Given the description of an element on the screen output the (x, y) to click on. 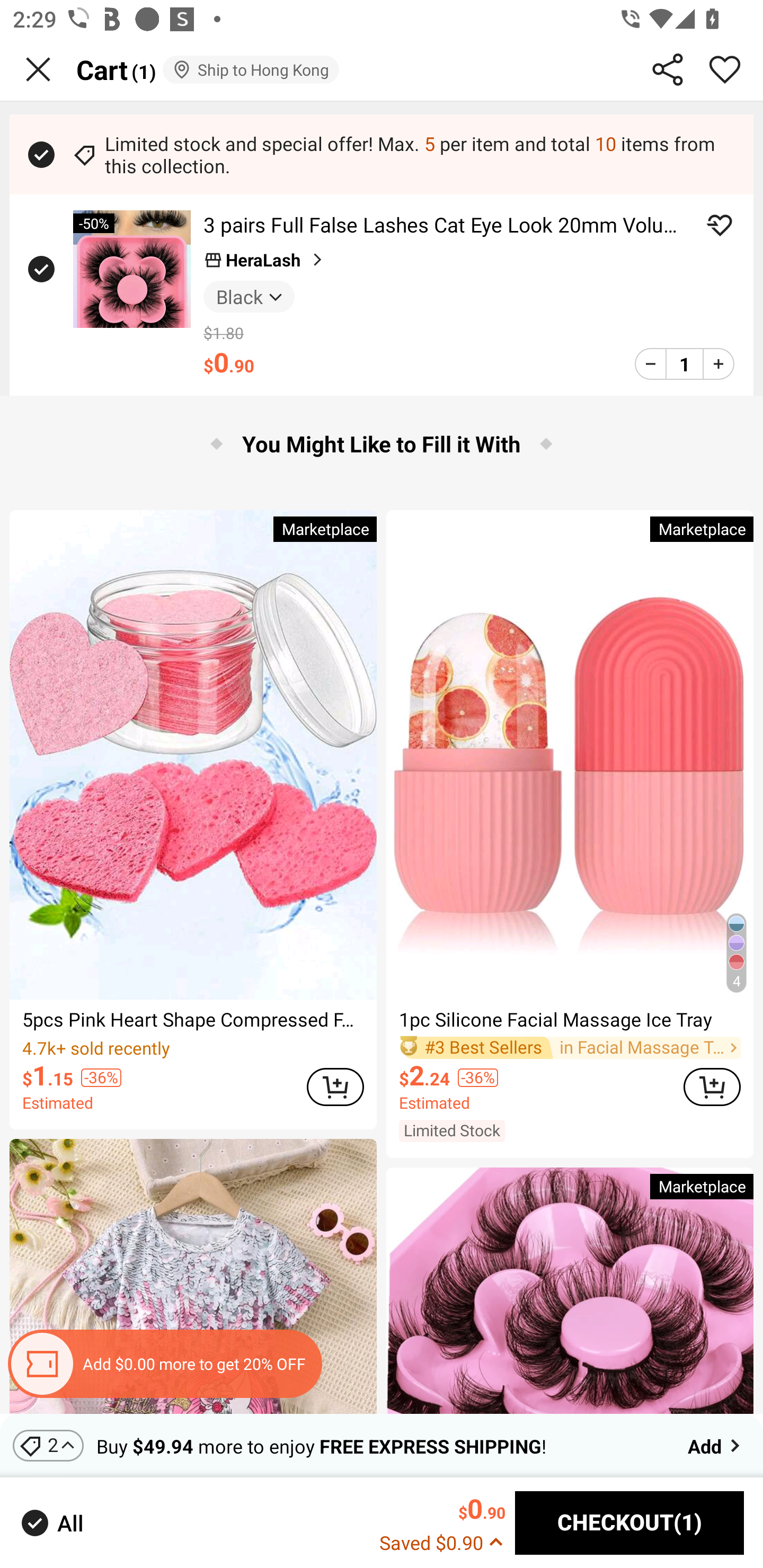
BACK Cart (1) Ship to Hong Kong Share Wishlist (381, 69)
BACK (38, 68)
Wishlist (724, 68)
Share (667, 68)
Ship to Hong Kong (250, 68)
ADD TO WISHLIST (719, 224)
HeraLash (264, 259)
Black (248, 296)
product quantity minus 1 (650, 363)
1 edit product quantity (684, 363)
product quantity add 1 (718, 363)
#3 Best Sellers in Facial Massage Tools (569, 1046)
ADD TO CART (334, 1086)
ADD TO CART (711, 1086)
SHEIN Young Girl Cartoon Printed Dress (192, 1276)
Coupon Alert Add $0.00 more to get 20% OFF (164, 1363)
2 (48, 1445)
Add (715, 1445)
CHECKOUT(1) (629, 1523)
All (51, 1522)
